Given the description of an element on the screen output the (x, y) to click on. 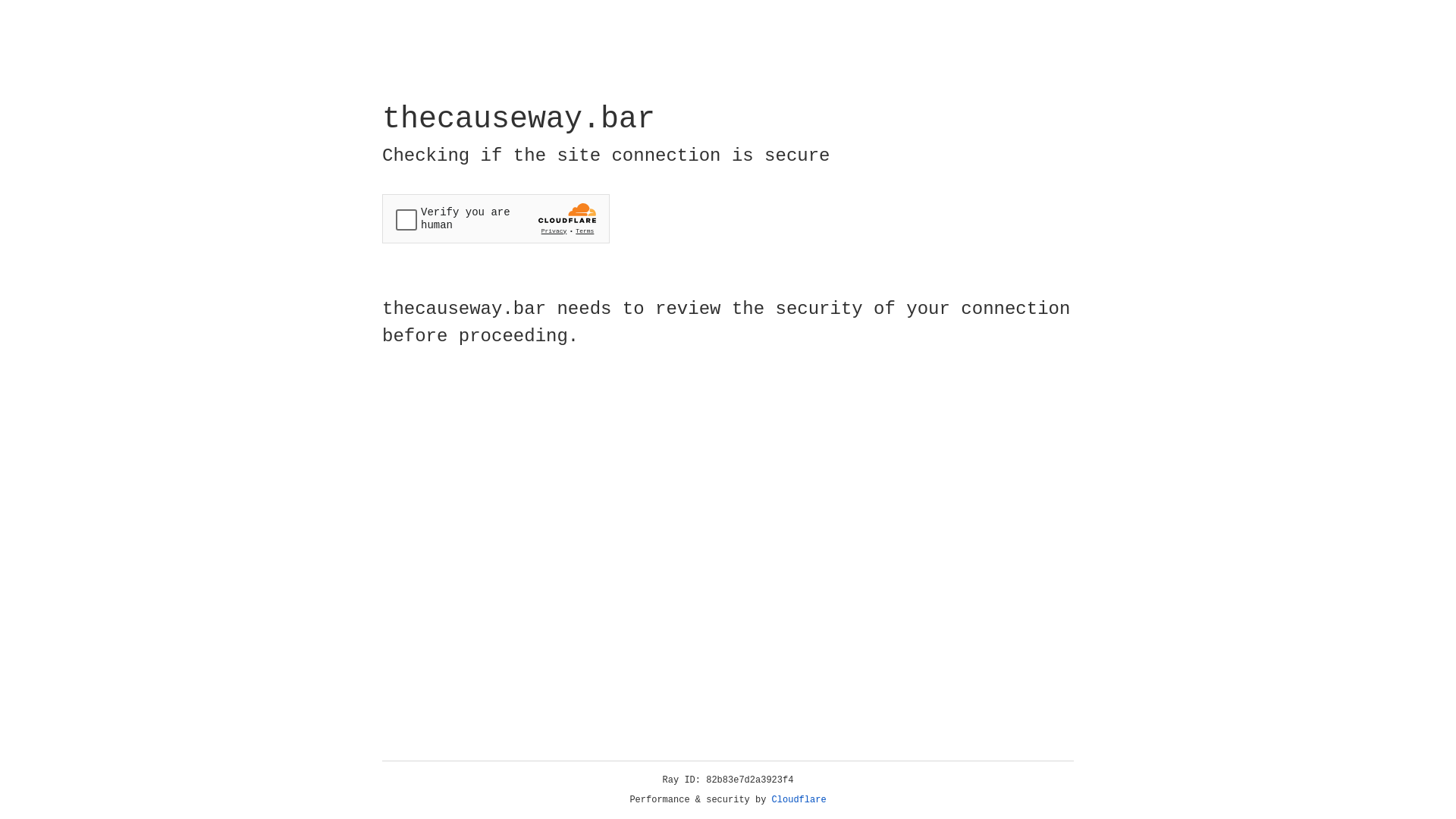
Cloudflare Element type: text (798, 799)
Widget containing a Cloudflare security challenge Element type: hover (495, 218)
